Given the description of an element on the screen output the (x, y) to click on. 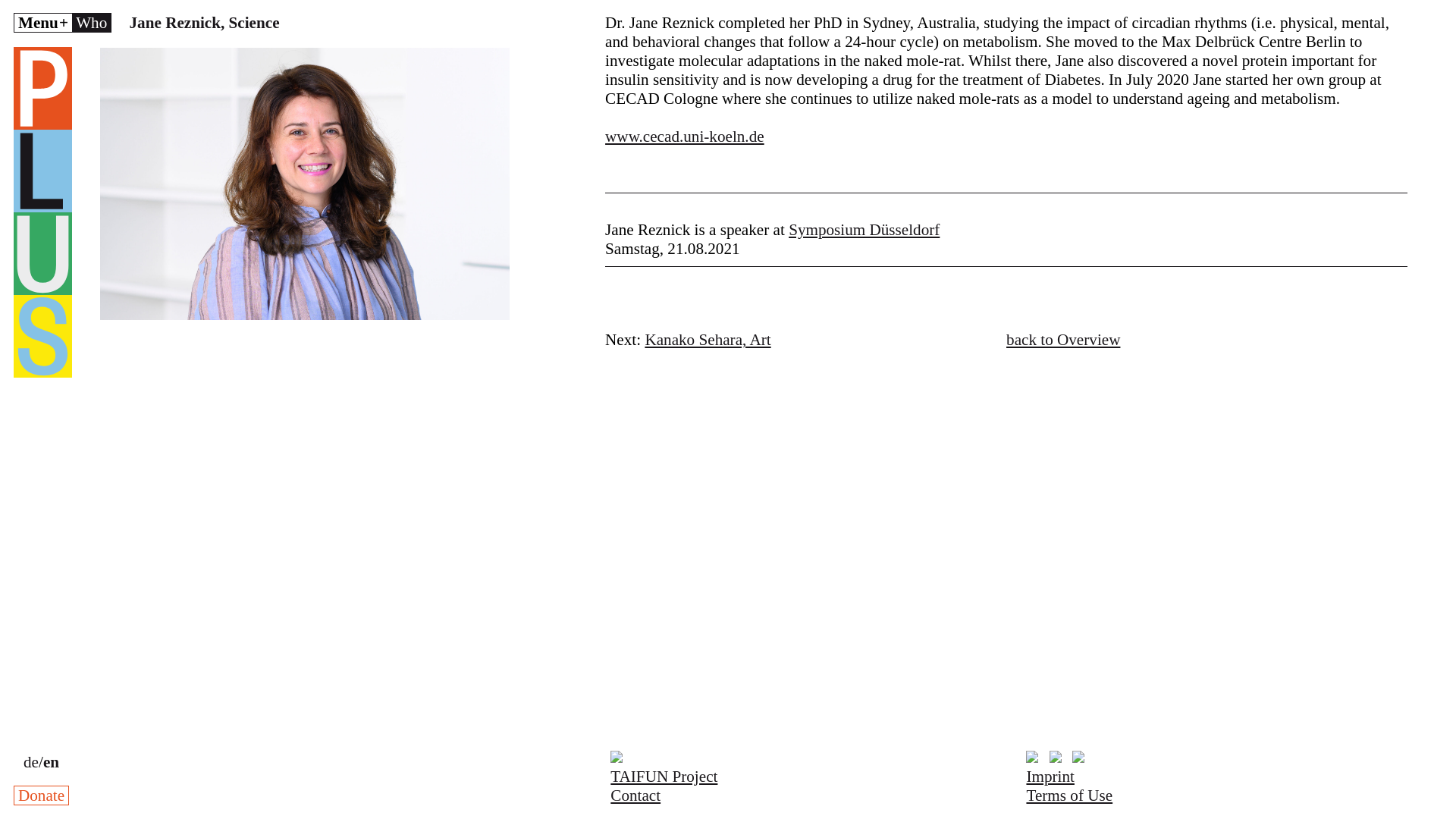
Donate (40, 795)
www.cecad.uni-koeln.de (684, 136)
back to Overview (1062, 339)
TAIFUN Project (663, 776)
Imprint (1050, 776)
Who (91, 22)
Contact (635, 795)
Kanako Sehara, Art (707, 339)
Terms of Use (1069, 795)
